Given the description of an element on the screen output the (x, y) to click on. 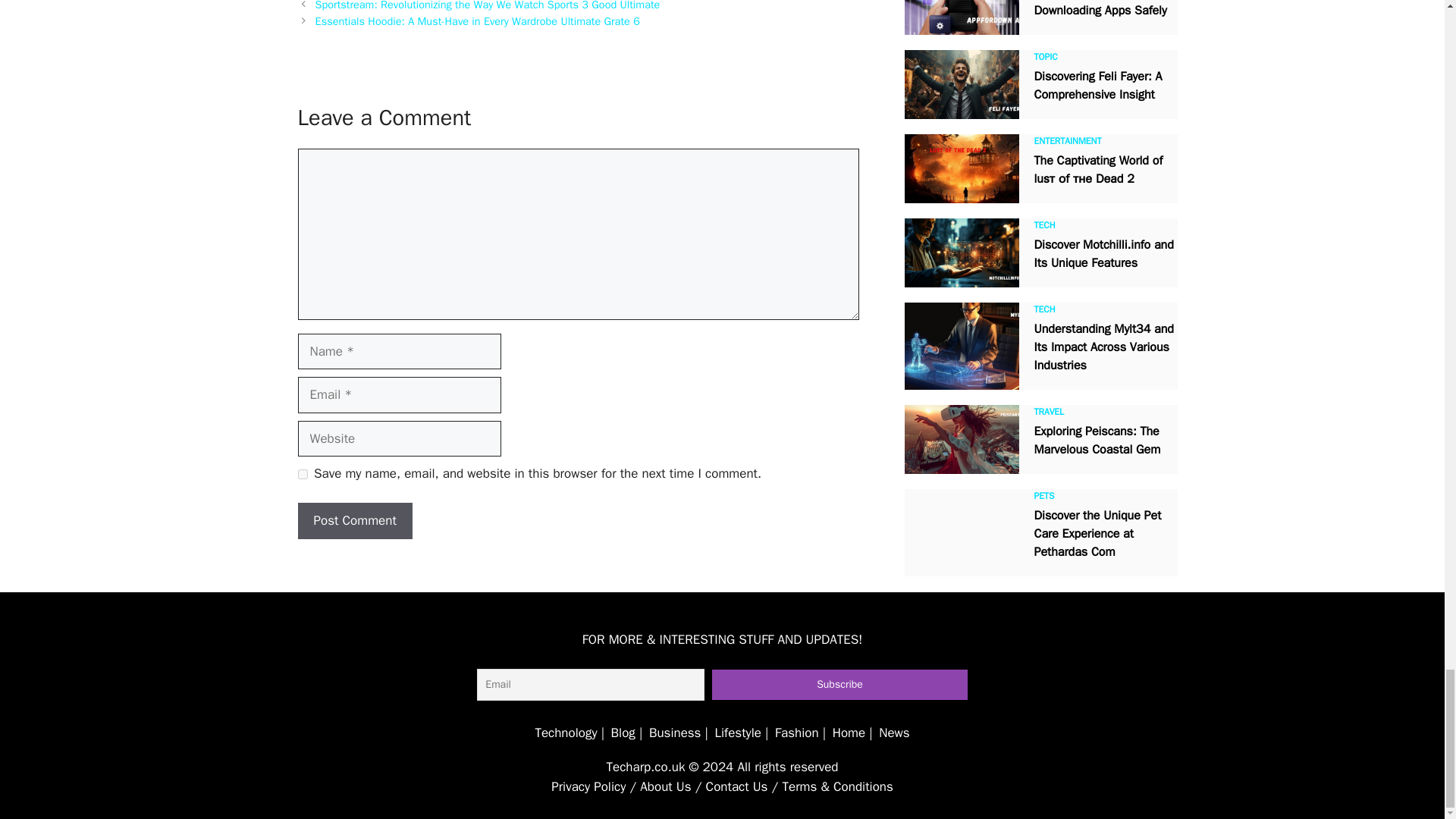
Post Comment (354, 520)
Subscribe (838, 684)
yes (302, 474)
